Given the description of an element on the screen output the (x, y) to click on. 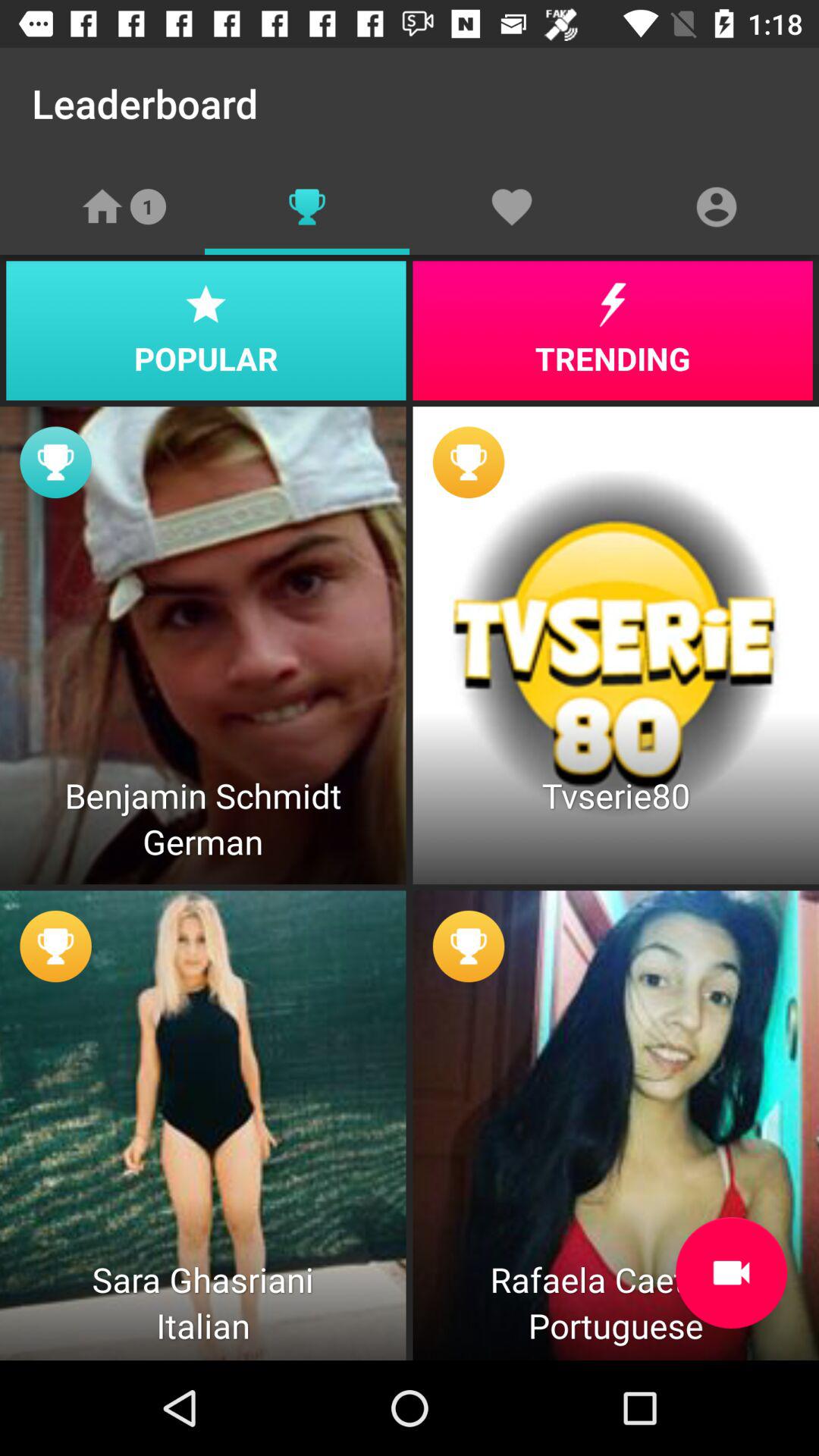
open video camera (731, 1272)
